Given the description of an element on the screen output the (x, y) to click on. 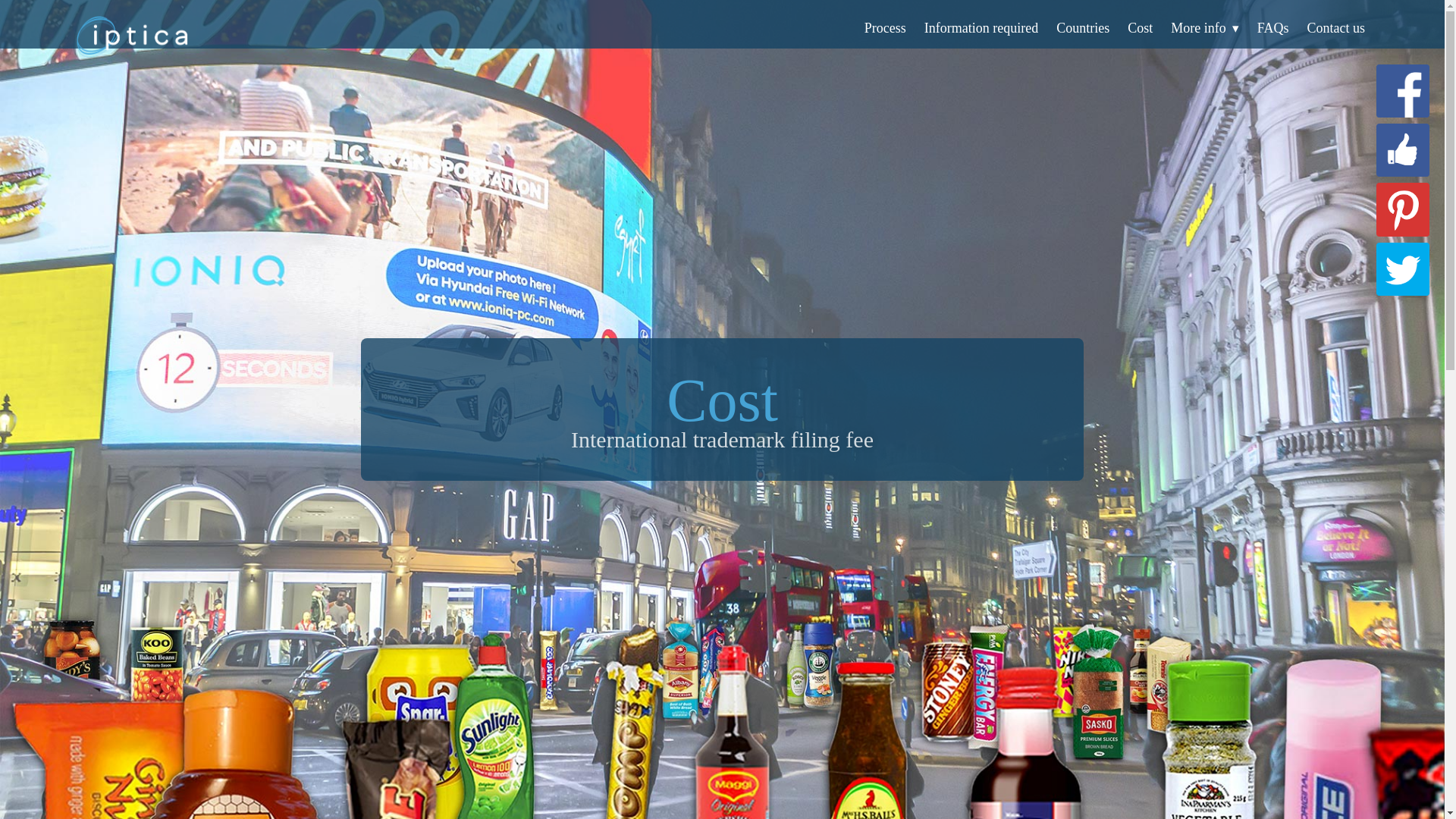
FAQs (1272, 28)
Cost (1139, 28)
Process (884, 28)
Information required (981, 28)
Contact us (1336, 28)
Countries (1083, 28)
